Given the description of an element on the screen output the (x, y) to click on. 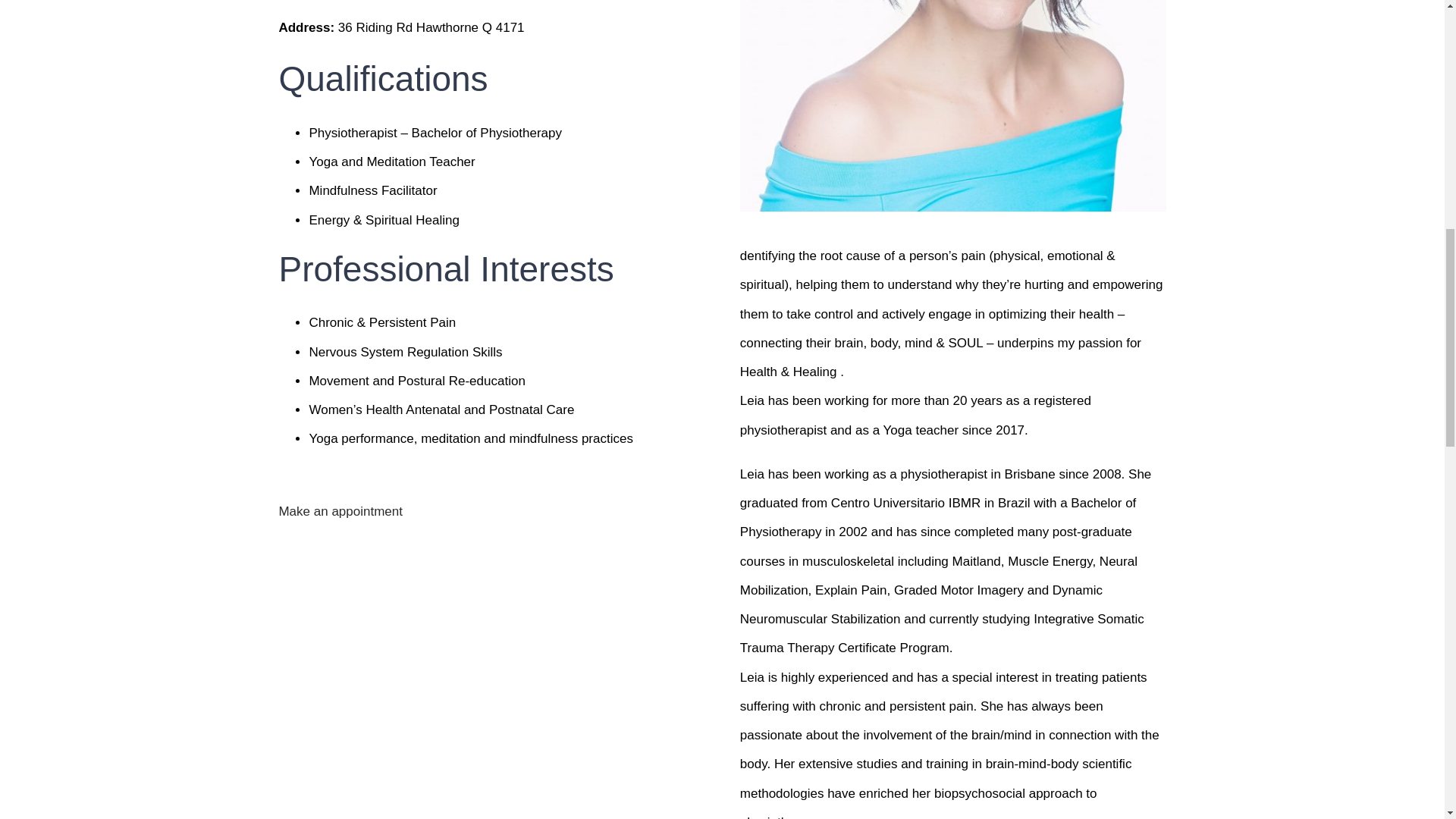
Make an appointment (340, 510)
